Given the description of an element on the screen output the (x, y) to click on. 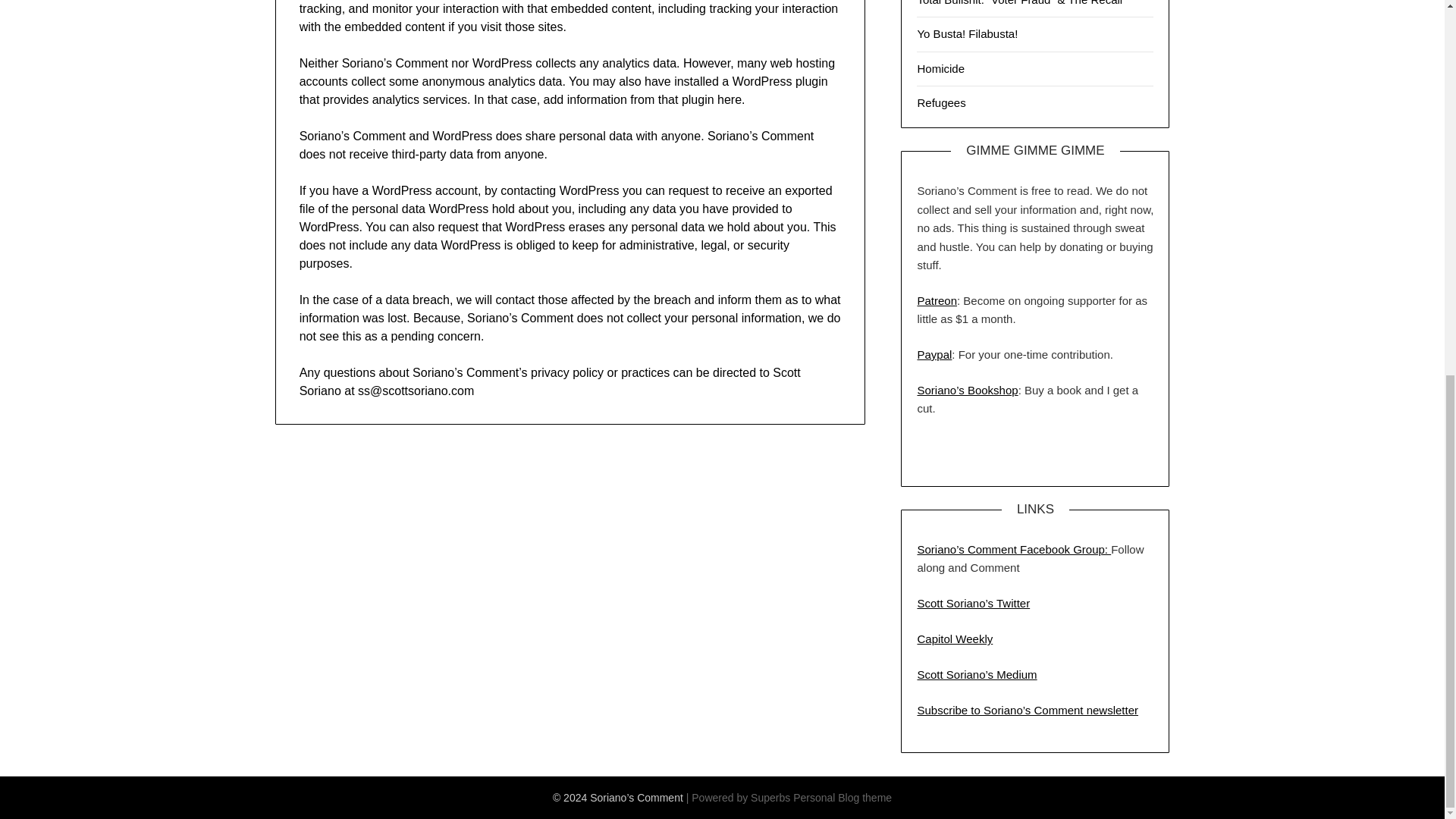
Homicide (940, 68)
Yo Busta! Filabusta! (967, 33)
Capitol Weekly (954, 638)
Paypal (934, 354)
Patreon (936, 300)
Personal Blog theme (842, 797)
Refugees (941, 102)
